Given the description of an element on the screen output the (x, y) to click on. 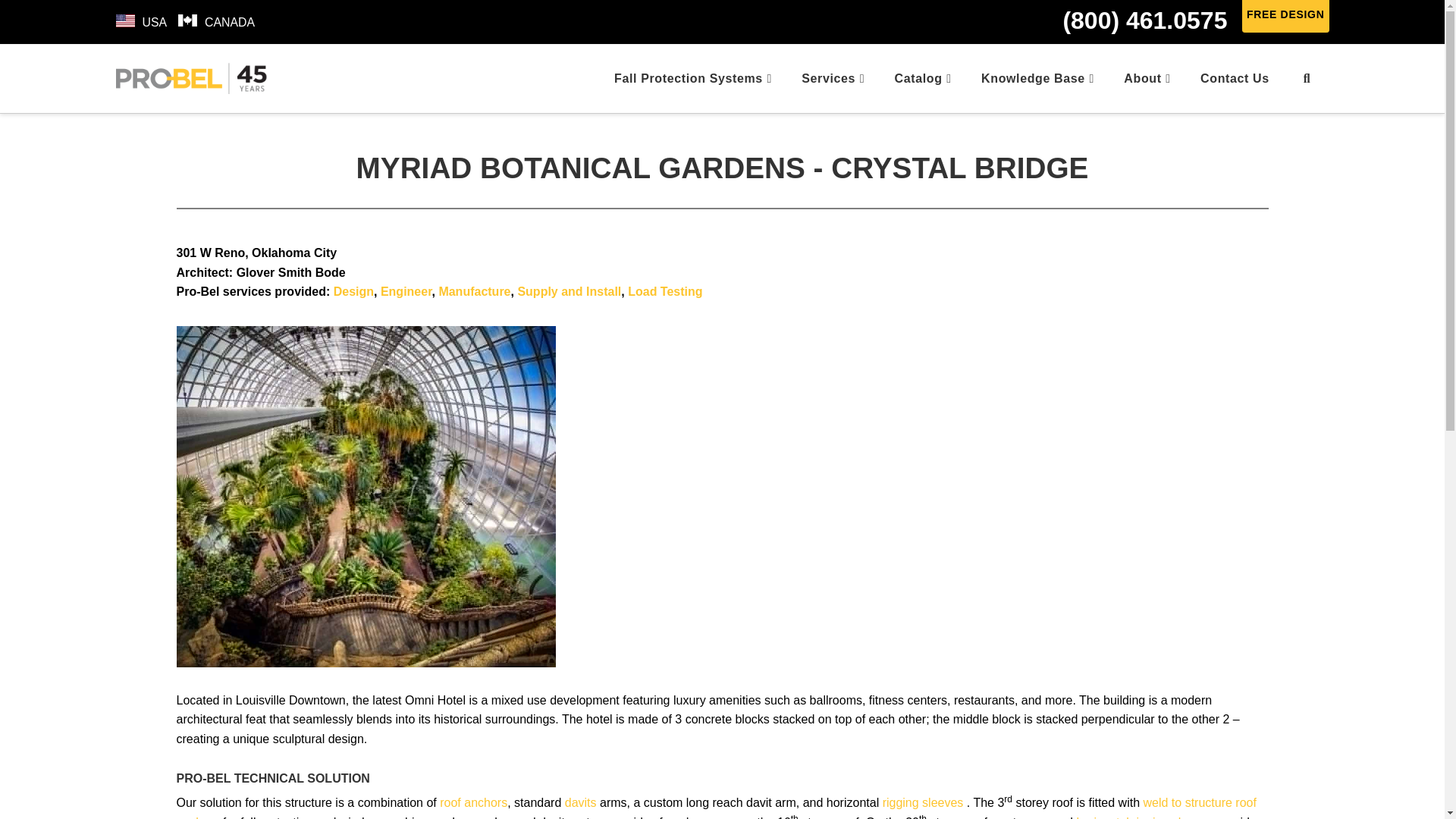
Catalog (922, 79)
FREE DESIGN (1285, 14)
Services (832, 79)
FREE DESIGN (1285, 16)
Fall Protection Systems (692, 79)
